Given the description of an element on the screen output the (x, y) to click on. 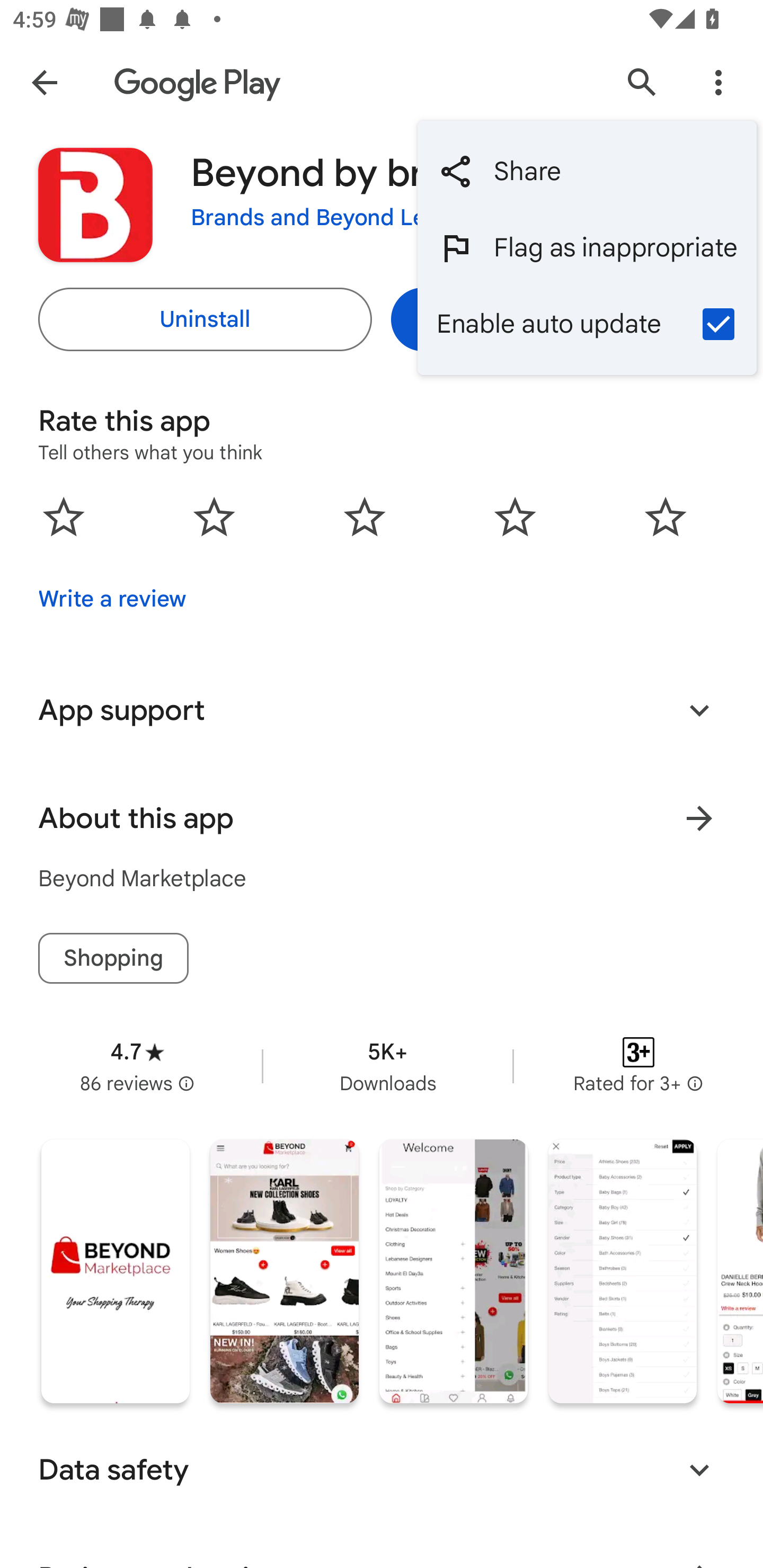
Share (586, 171)
Flag as inappropriate (586, 247)
Checked Enable auto update (586, 323)
